Given the description of an element on the screen output the (x, y) to click on. 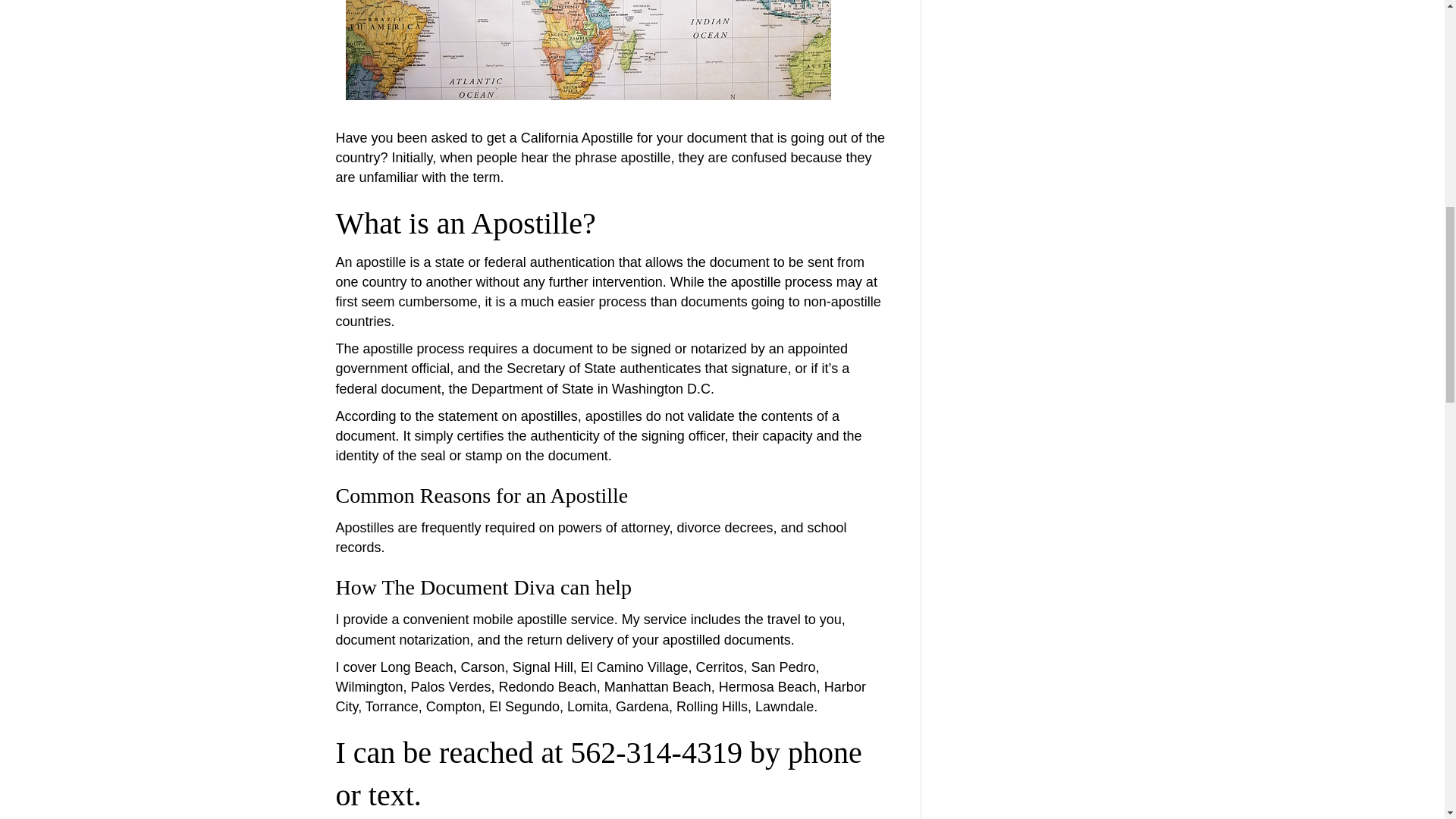
562-314-4319 (656, 752)
